Given the description of an element on the screen output the (x, y) to click on. 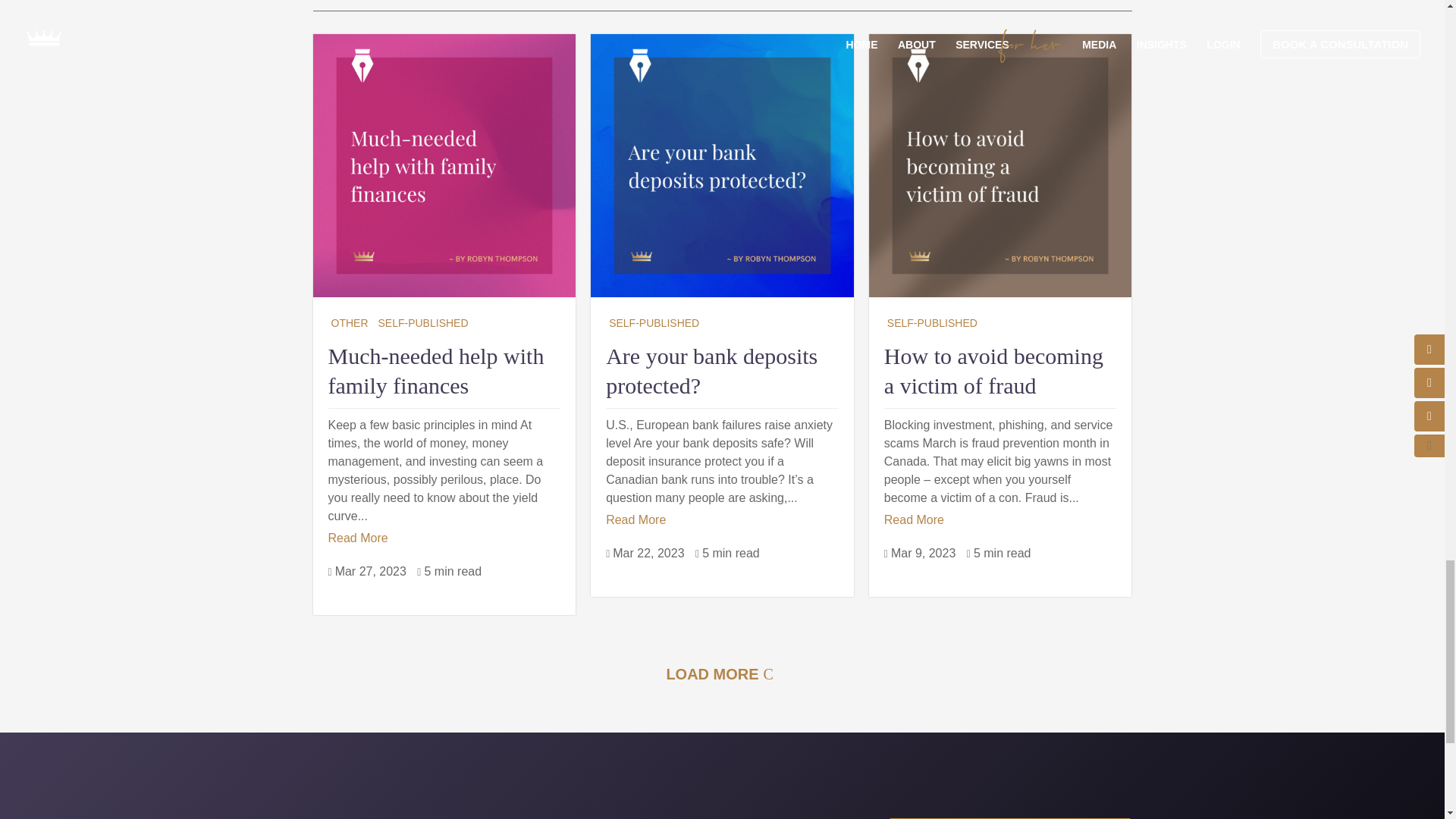
SELF-PUBLISHED (422, 322)
Read More (635, 520)
OTHER (349, 322)
Much-needed help with family finances (435, 370)
SELF-PUBLISHED (653, 322)
How to avoid becoming a victim of fraud (993, 370)
Read More (357, 538)
Read More (913, 520)
SELF-PUBLISHED (931, 322)
LOAD MORE (722, 673)
Are your bank deposits protected? (710, 370)
